Given the description of an element on the screen output the (x, y) to click on. 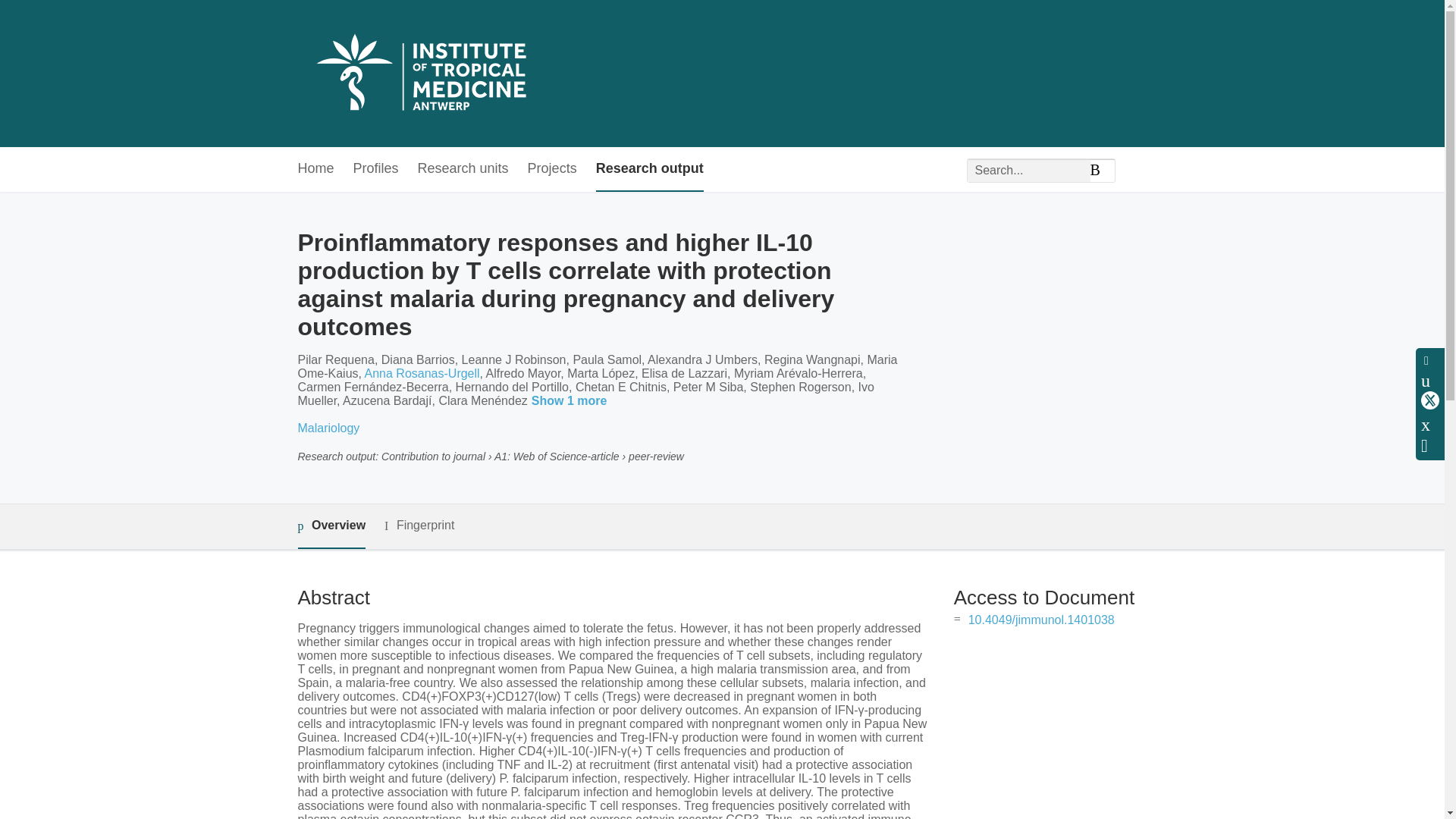
Anna Rosanas-Urgell (422, 373)
Show 1 more (571, 401)
Projects (551, 169)
Malariology (328, 427)
Overview (331, 526)
Research units (462, 169)
Fingerprint (419, 525)
Research output (649, 169)
